Given the description of an element on the screen output the (x, y) to click on. 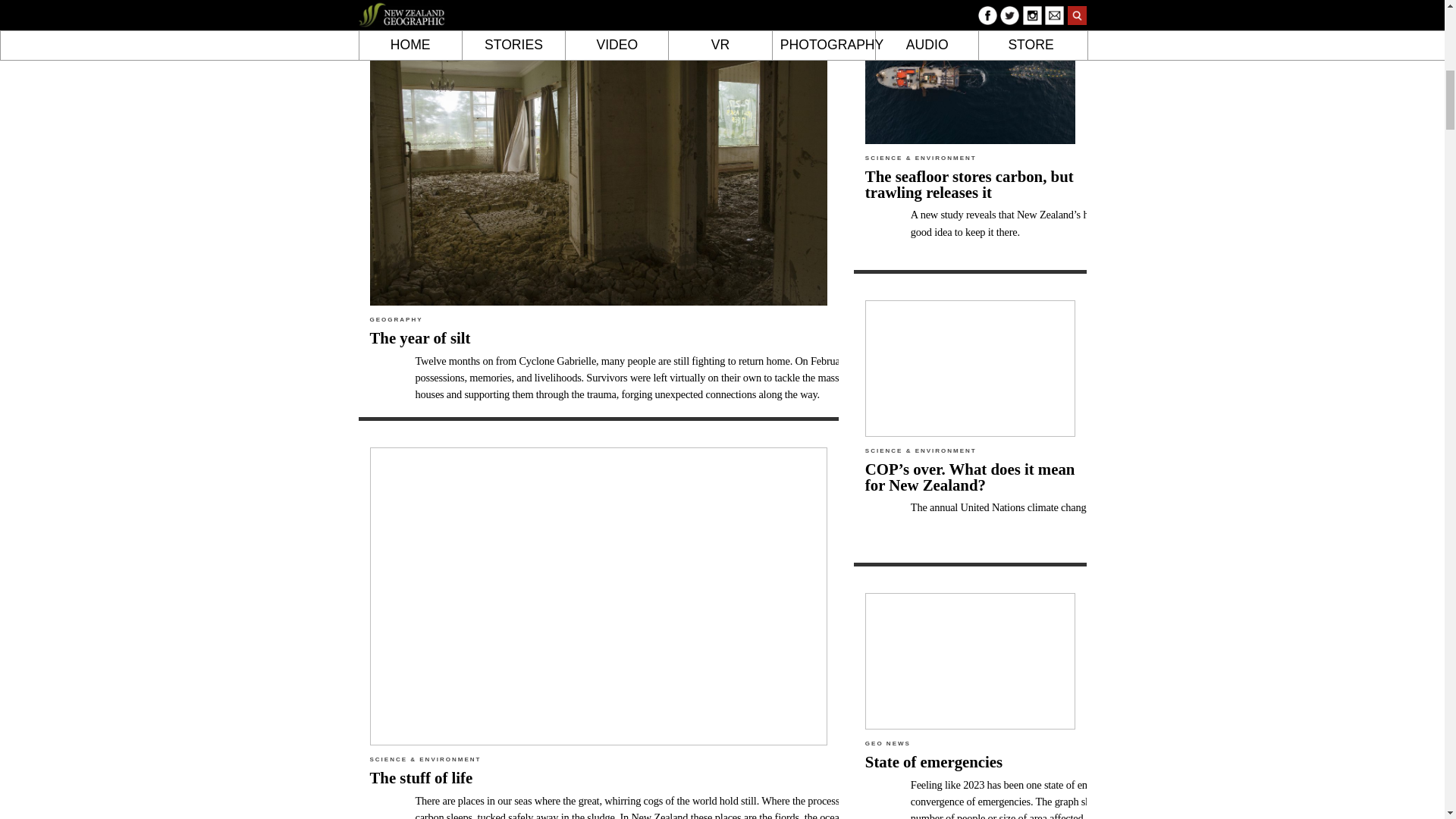
The year of silt (419, 337)
GEOGRAPHY (396, 319)
The stuff of life (421, 777)
GEO NEWS (887, 743)
State of emergencies (933, 761)
The seafloor stores carbon, but trawling releases it (969, 183)
